Given the description of an element on the screen output the (x, y) to click on. 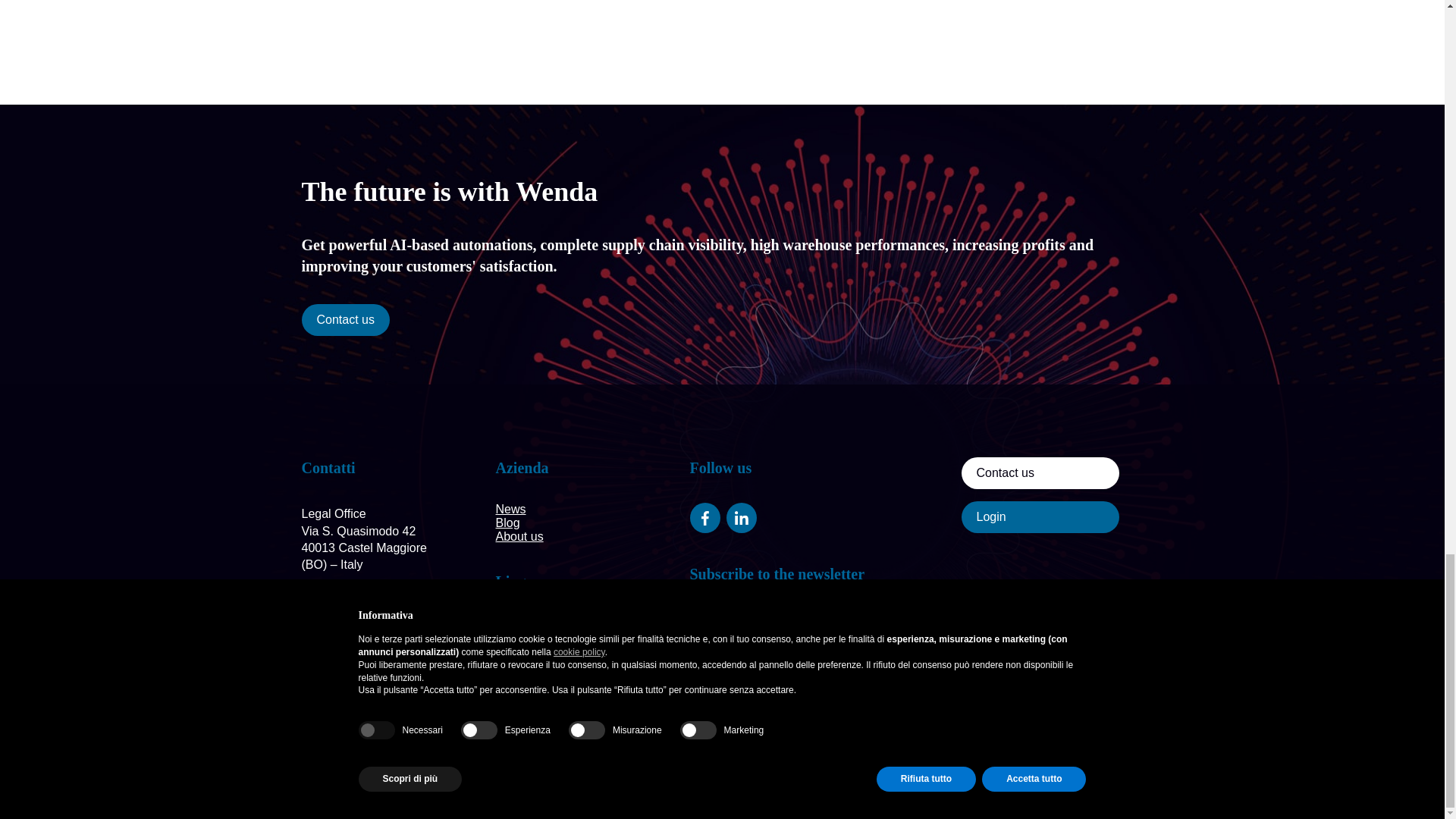
Contact us (345, 319)
Blog (507, 522)
English (515, 622)
Italiano (515, 635)
Cookie policy (517, 787)
Privacy policy (434, 787)
Login (1039, 517)
About us (519, 535)
News (510, 508)
Privacy policy ridotta (621, 787)
Contact us (1039, 472)
